Given the description of an element on the screen output the (x, y) to click on. 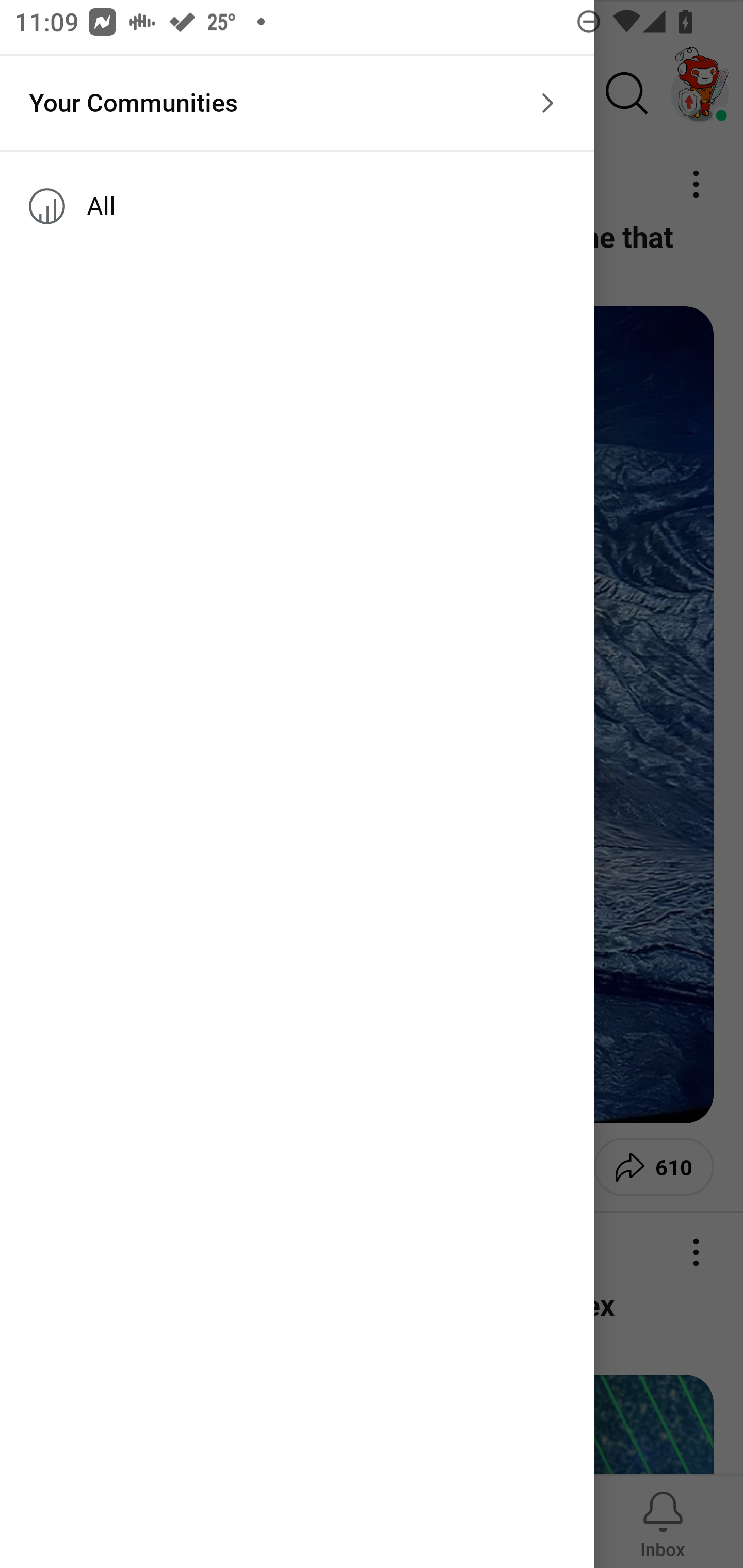
Your Communities (297, 103)
All (297, 206)
